Given the description of an element on the screen output the (x, y) to click on. 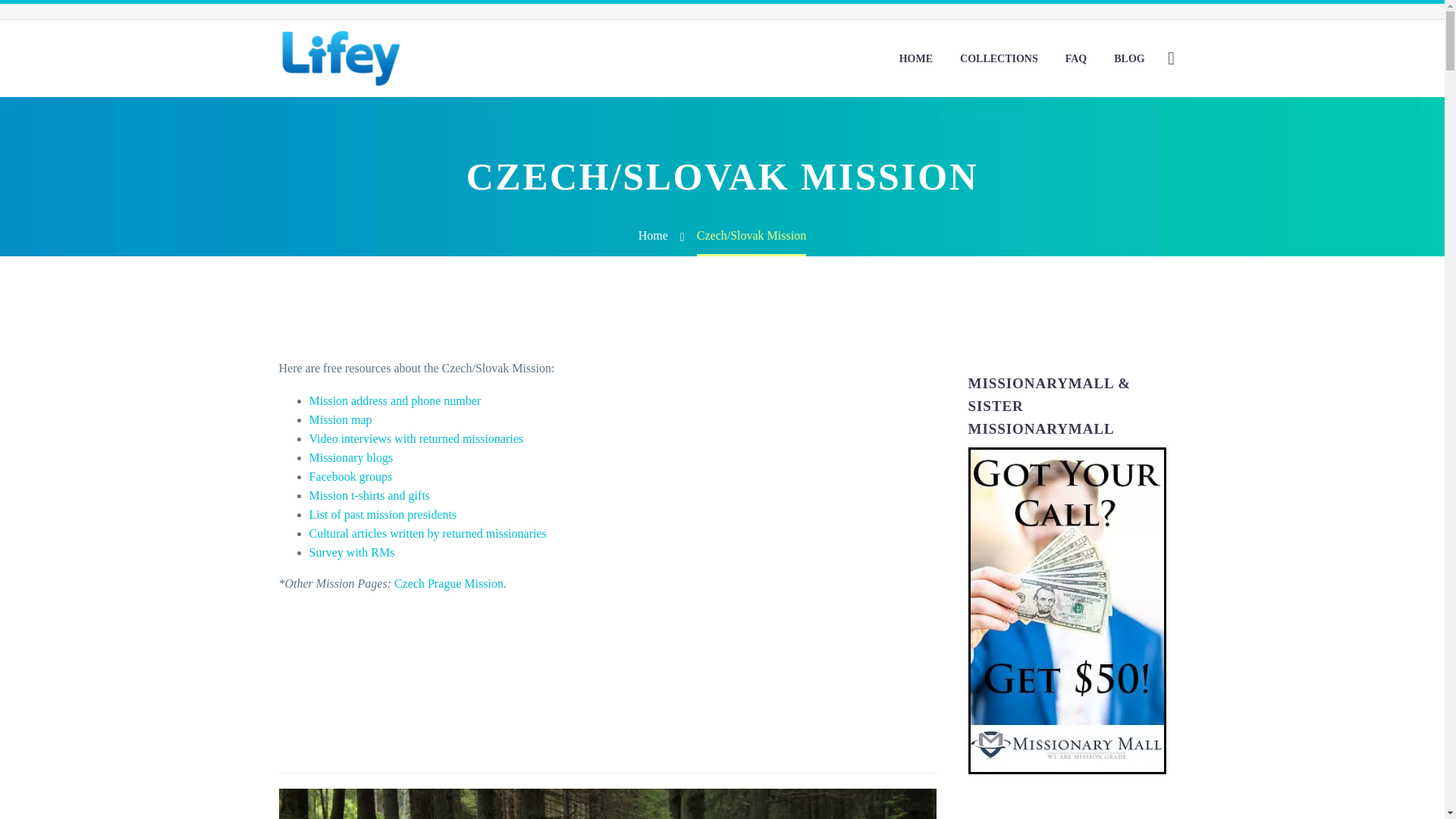
Mission t-shirts and gifts (369, 495)
Mission map (340, 419)
Home (653, 235)
Missionary blogs (350, 457)
Video interviews with returned missionaries (416, 438)
Advertisement (607, 681)
Cultural articles written by returned missionaries (427, 533)
COLLECTIONS (999, 57)
Facebook groups (350, 476)
List of past mission presidents (382, 513)
